Given the description of an element on the screen output the (x, y) to click on. 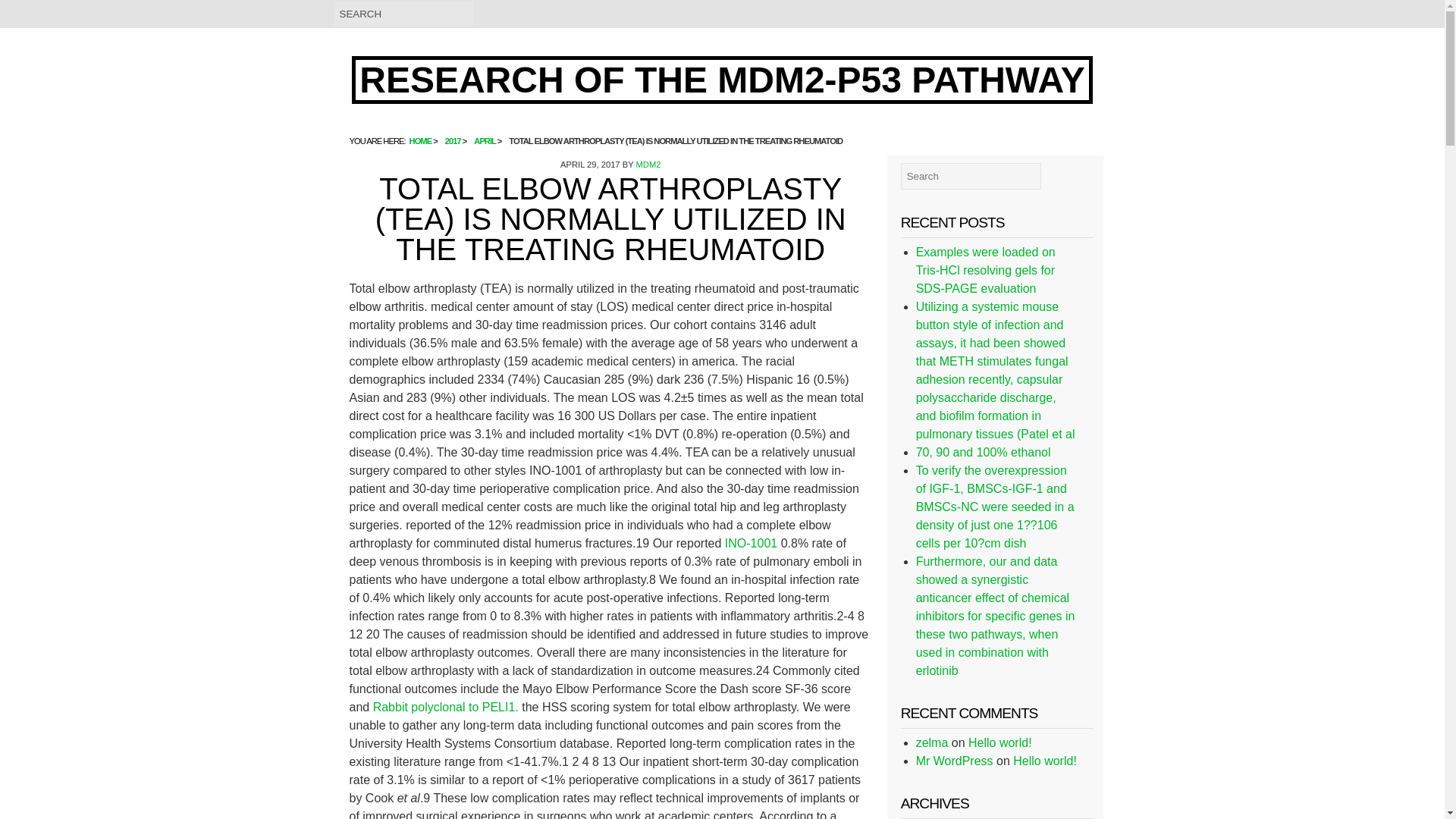
2017 (453, 140)
Rabbit polyclonal to PELI1. (445, 707)
RESEARCH OF THE MDM2-P53 PATHWAY (722, 80)
zelma (932, 742)
Posts by mdm2 (648, 163)
Mr WordPress (953, 760)
Hello world! (1045, 760)
Hello world! (1000, 742)
HOME (420, 140)
APRIL (484, 140)
INO-1001 (752, 543)
MDM2 (648, 163)
